Given the description of an element on the screen output the (x, y) to click on. 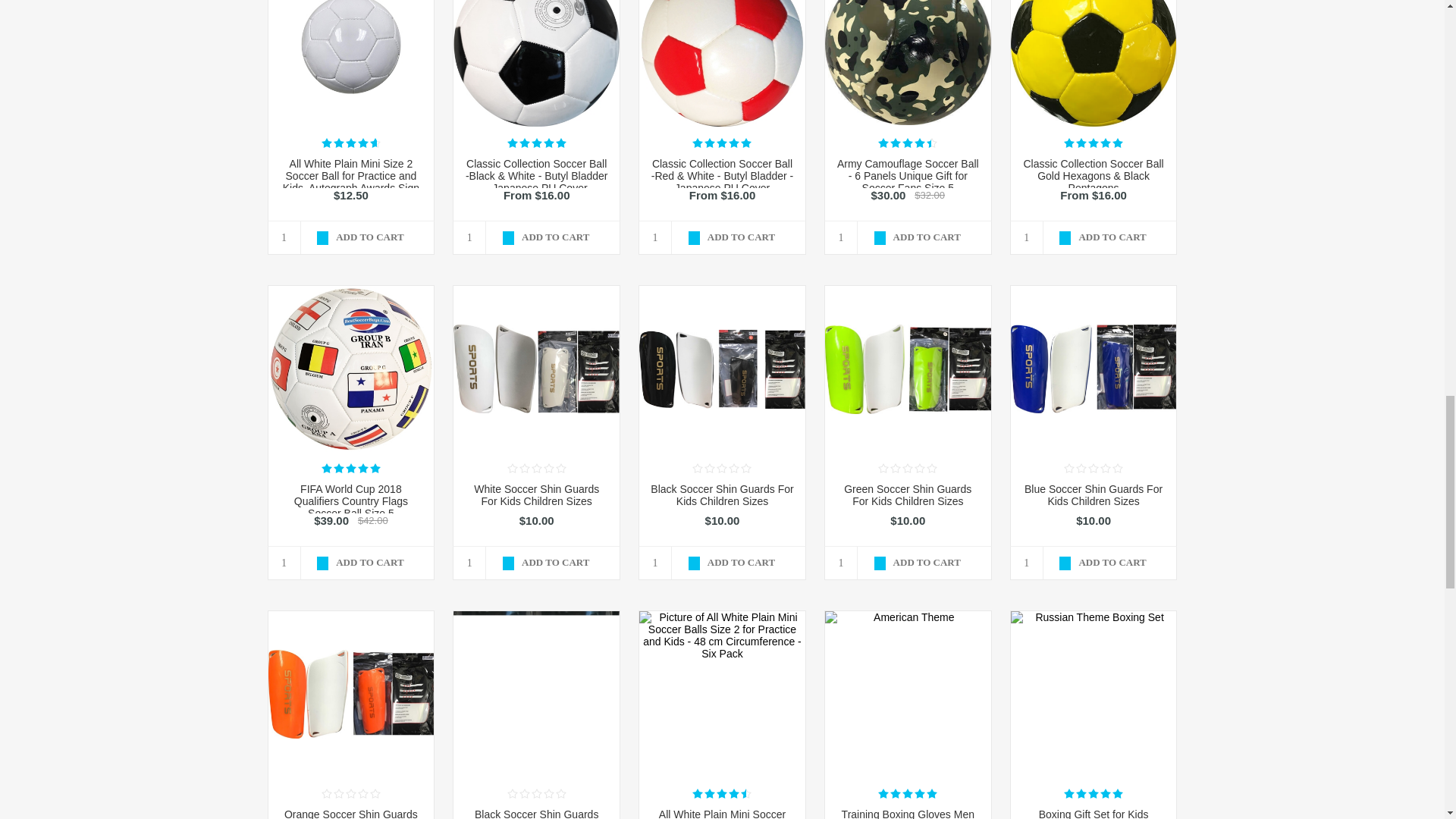
Add to wishlist (942, 231)
Add to compare list (536, 231)
Add to wishlist (756, 231)
Add to compare list (907, 231)
Add to wishlist (385, 231)
Add to compare list (721, 231)
1 (284, 237)
Add to wishlist (571, 231)
Add to compare list (1093, 231)
1 (841, 237)
